Given the description of an element on the screen output the (x, y) to click on. 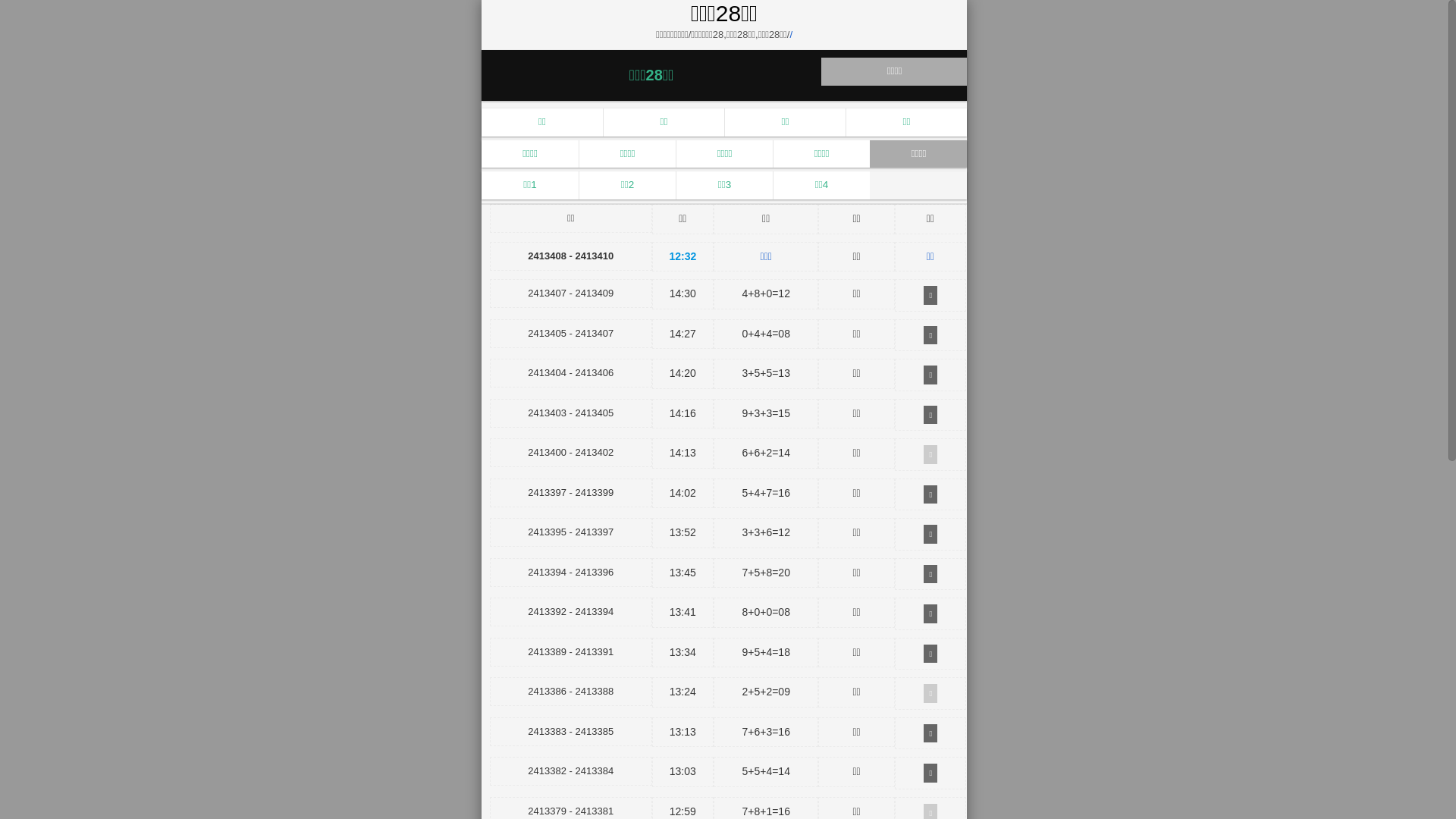
/ Element type: text (790, 34)
